Given the description of an element on the screen output the (x, y) to click on. 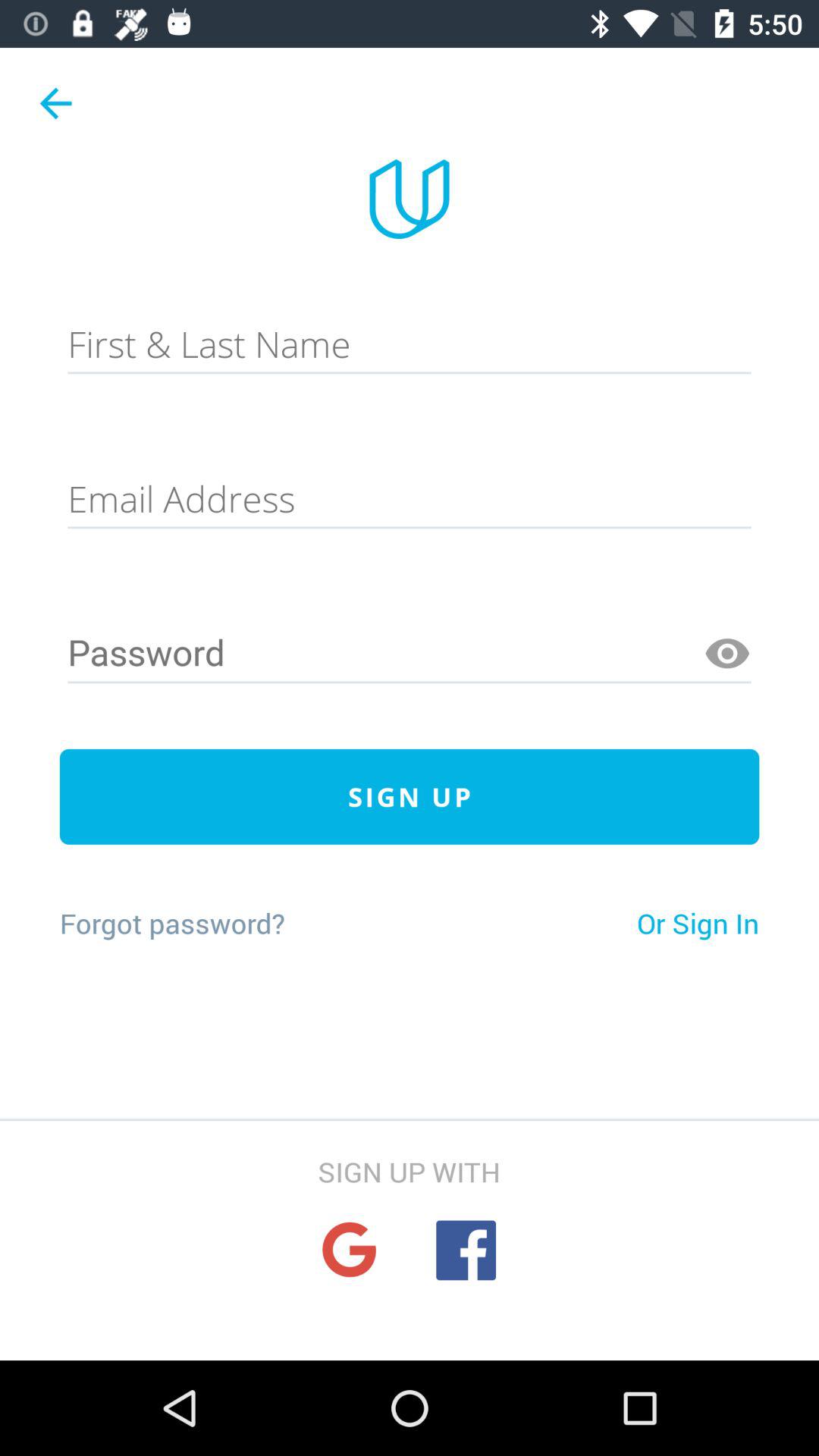
show password (727, 653)
